Given the description of an element on the screen output the (x, y) to click on. 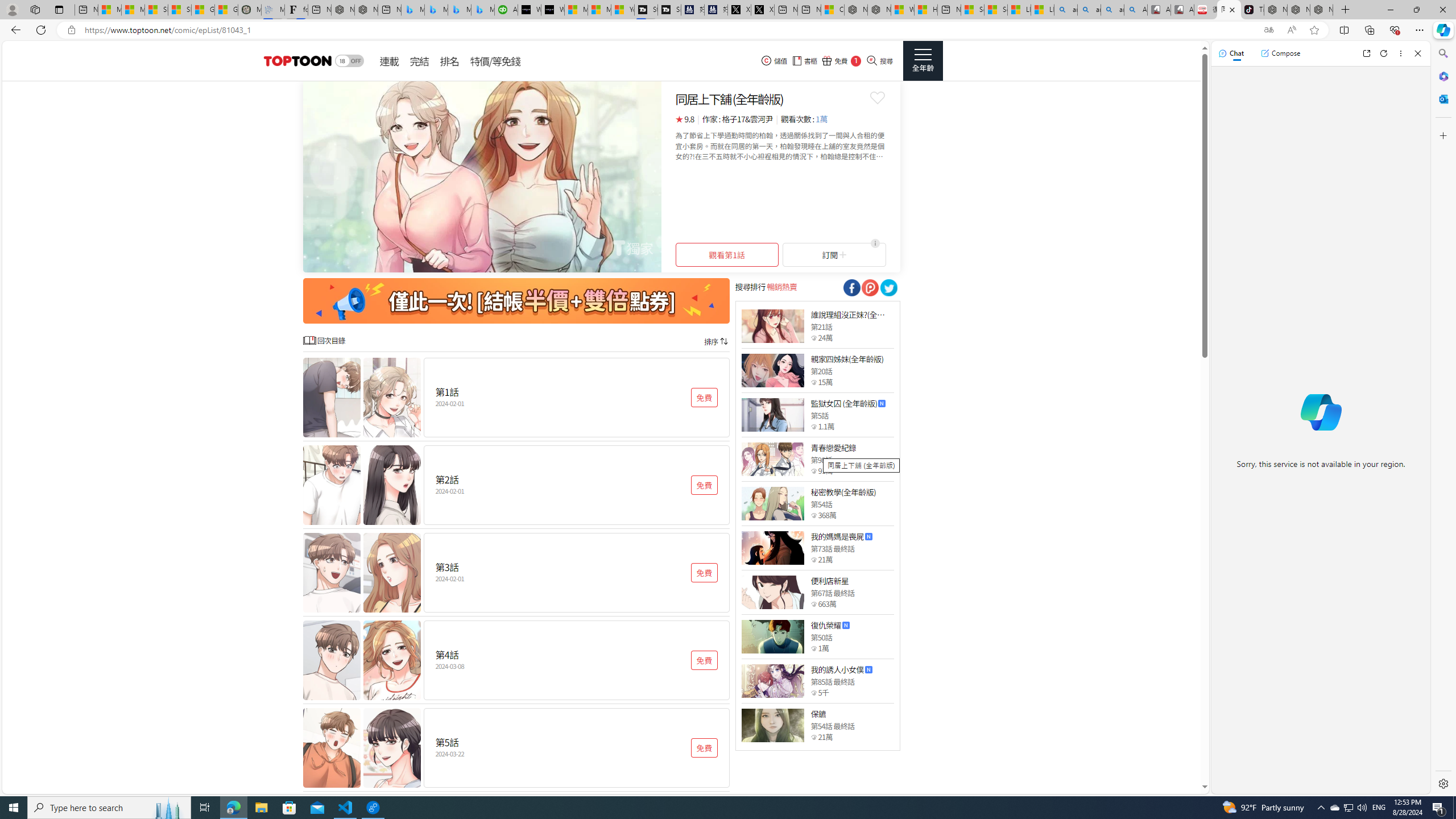
Chat (1231, 52)
Microsoft Bing Travel - Stays in Bangkok, Bangkok, Thailand (435, 9)
Nordace - Siena Pro 15 Essential Set (1321, 9)
